Given the description of an element on the screen output the (x, y) to click on. 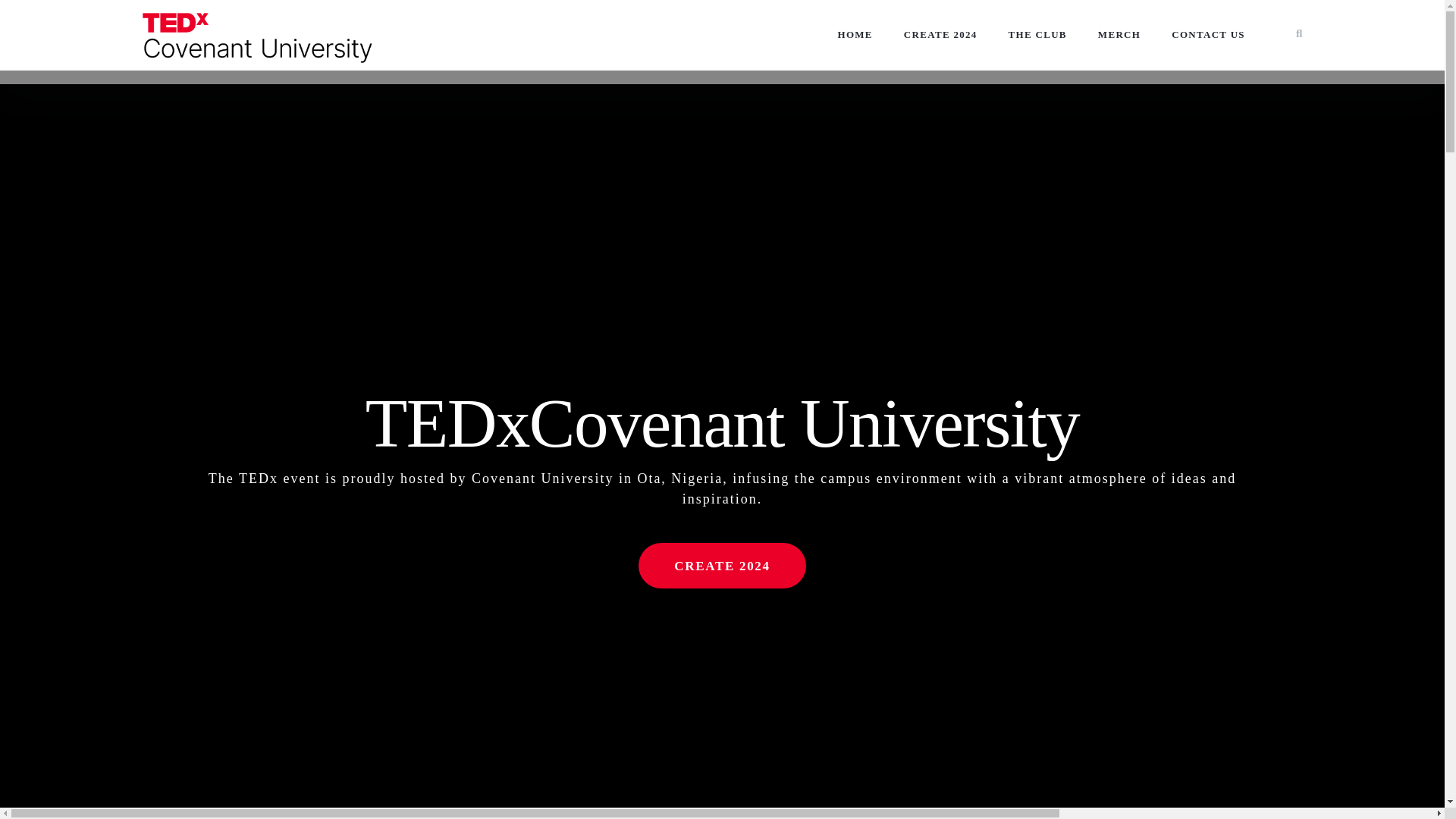
CONTACT US (1207, 34)
MERCH (1119, 34)
CREATE 2024 (722, 565)
HOME (854, 34)
CREATE 2024 (941, 34)
THE CLUB (1036, 34)
